Given the description of an element on the screen output the (x, y) to click on. 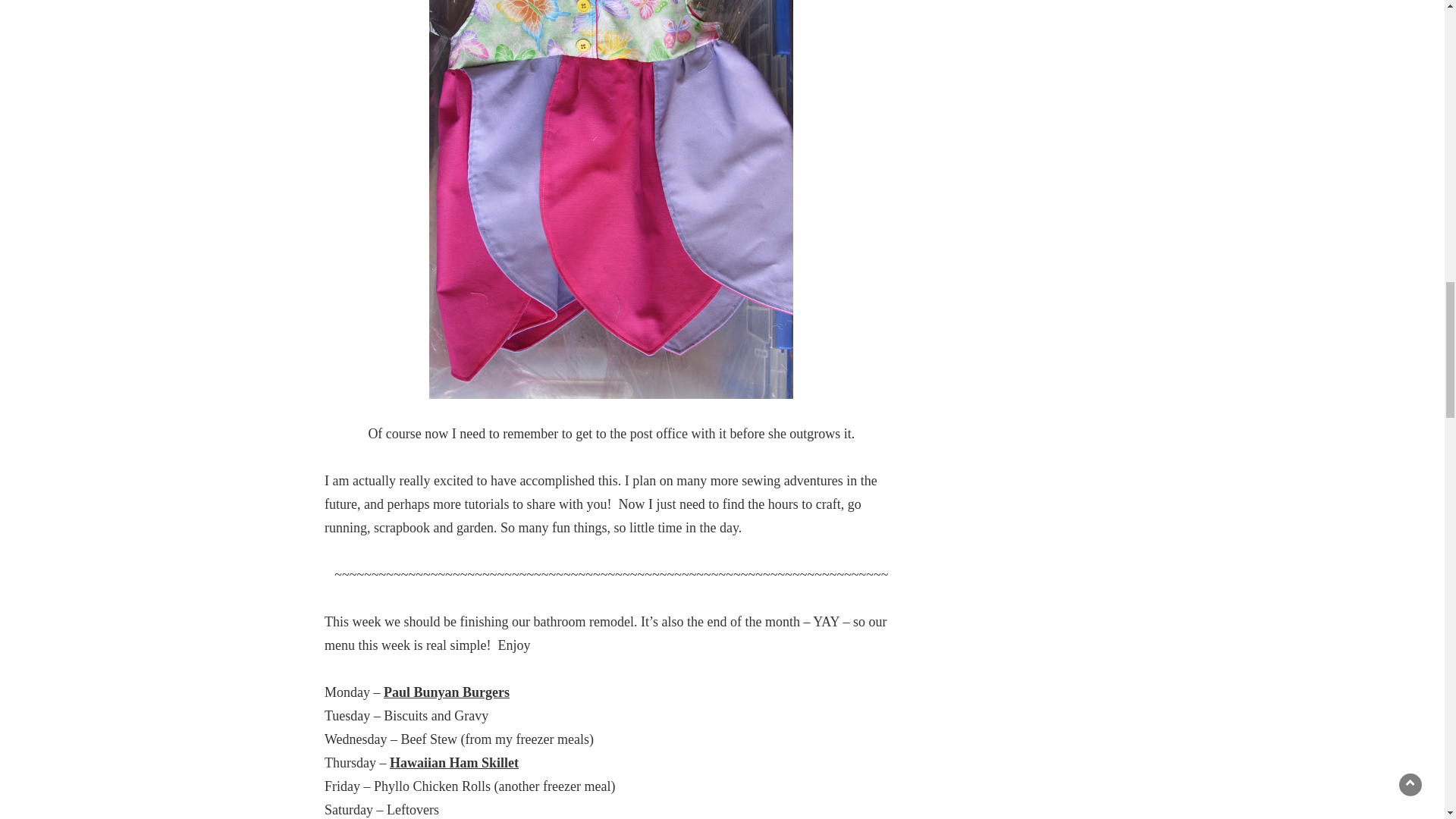
Hawaiian Ham Skillet (454, 762)
Paul Bunyan Burgers (446, 692)
